Given the description of an element on the screen output the (x, y) to click on. 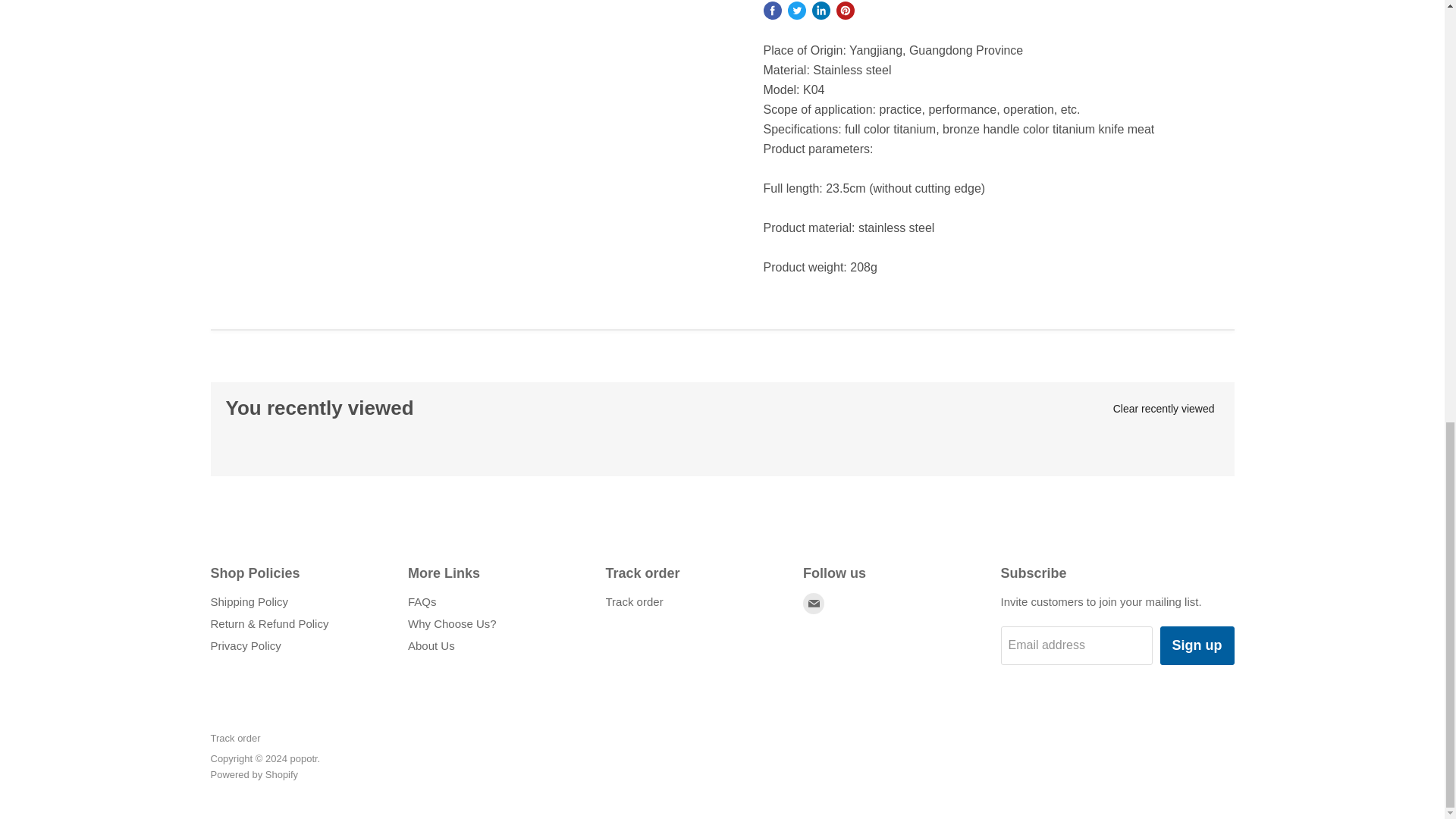
E-mail (813, 603)
